Given the description of an element on the screen output the (x, y) to click on. 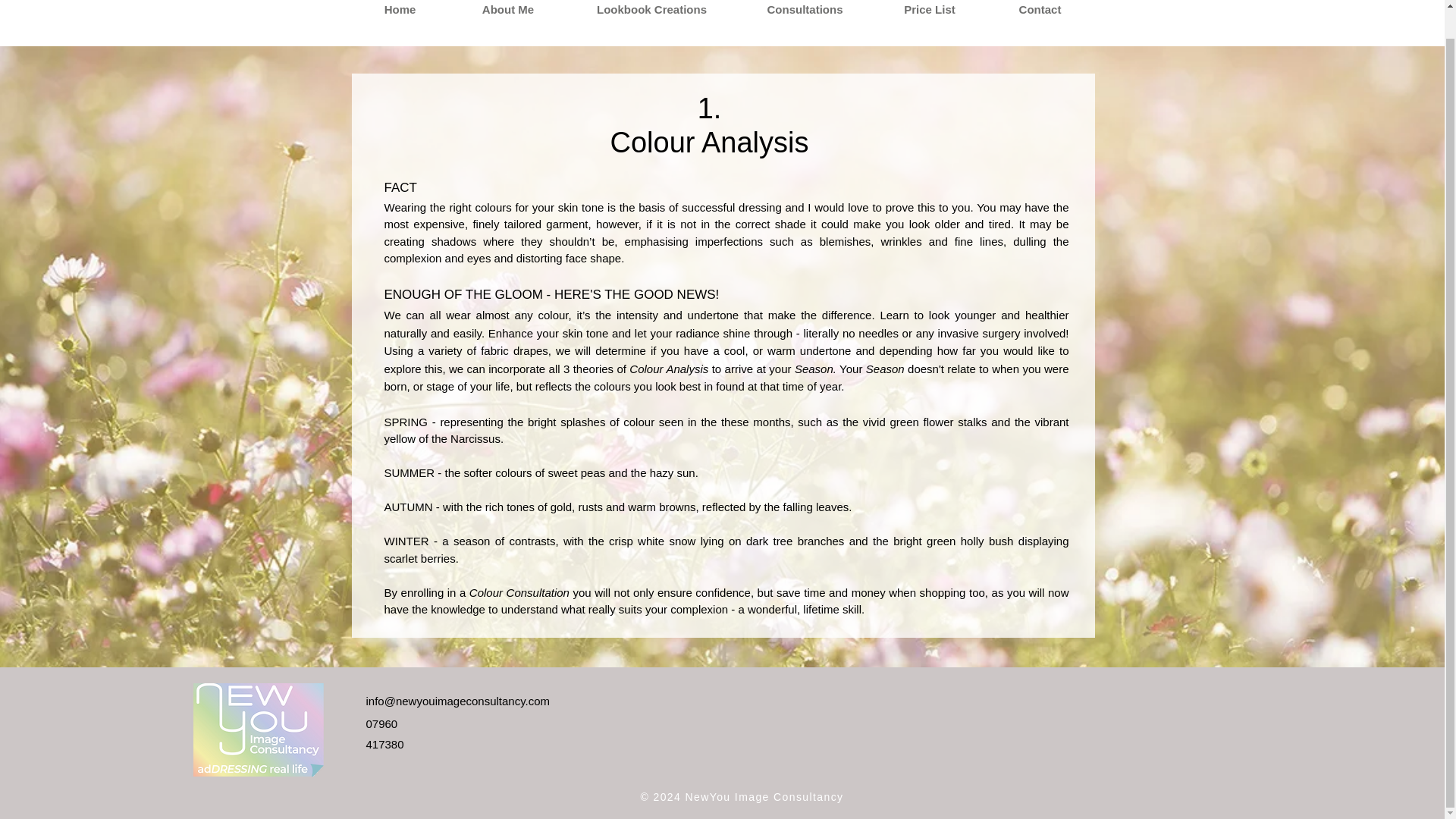
About Me (507, 14)
ewyouimageconsultancy.com (475, 700)
Lookbook Creations (651, 14)
Home (399, 14)
Contact (1039, 14)
Price List (930, 14)
